Given the description of an element on the screen output the (x, y) to click on. 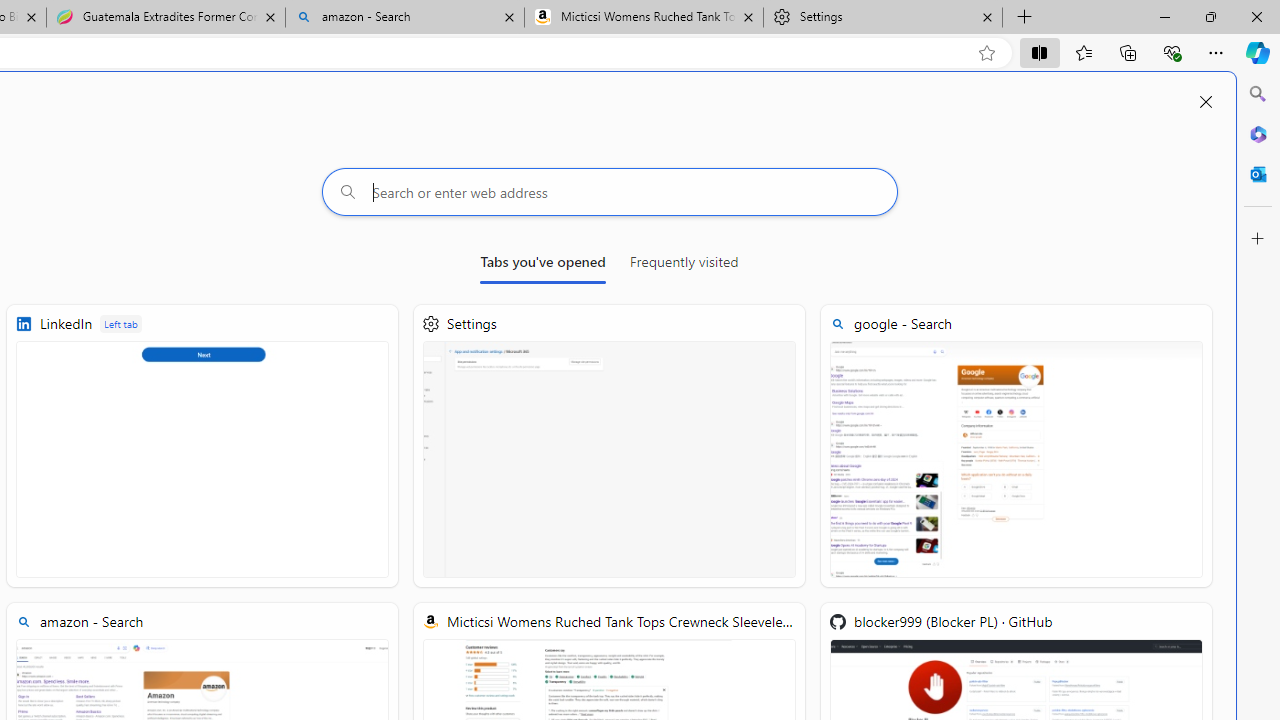
Tabs you've opened (542, 265)
Close split screen (1205, 102)
LinkedIn (202, 446)
